Given the description of an element on the screen output the (x, y) to click on. 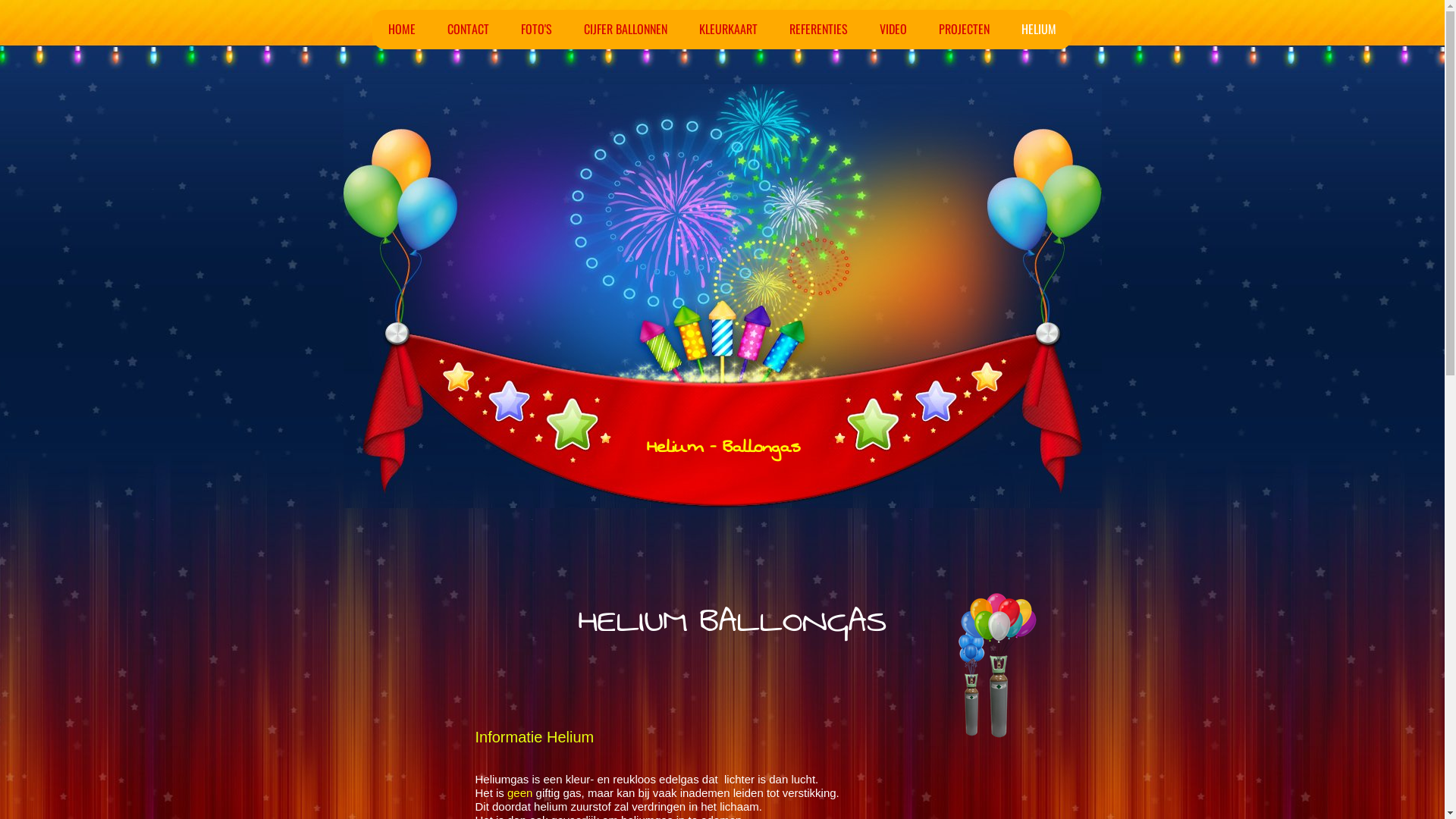
PROJECTEN Element type: text (963, 29)
KLEURKAART Element type: text (728, 29)
FOTO'S Element type: text (536, 29)
VIDEO Element type: text (892, 29)
HOME Element type: text (401, 29)
REFERENTIES Element type: text (818, 29)
CIJFER BALLONNEN Element type: text (625, 29)
helium verhuur Element type: hover (962, 666)
HELIUM Element type: text (1038, 29)
CONTACT Element type: text (468, 29)
